Given the description of an element on the screen output the (x, y) to click on. 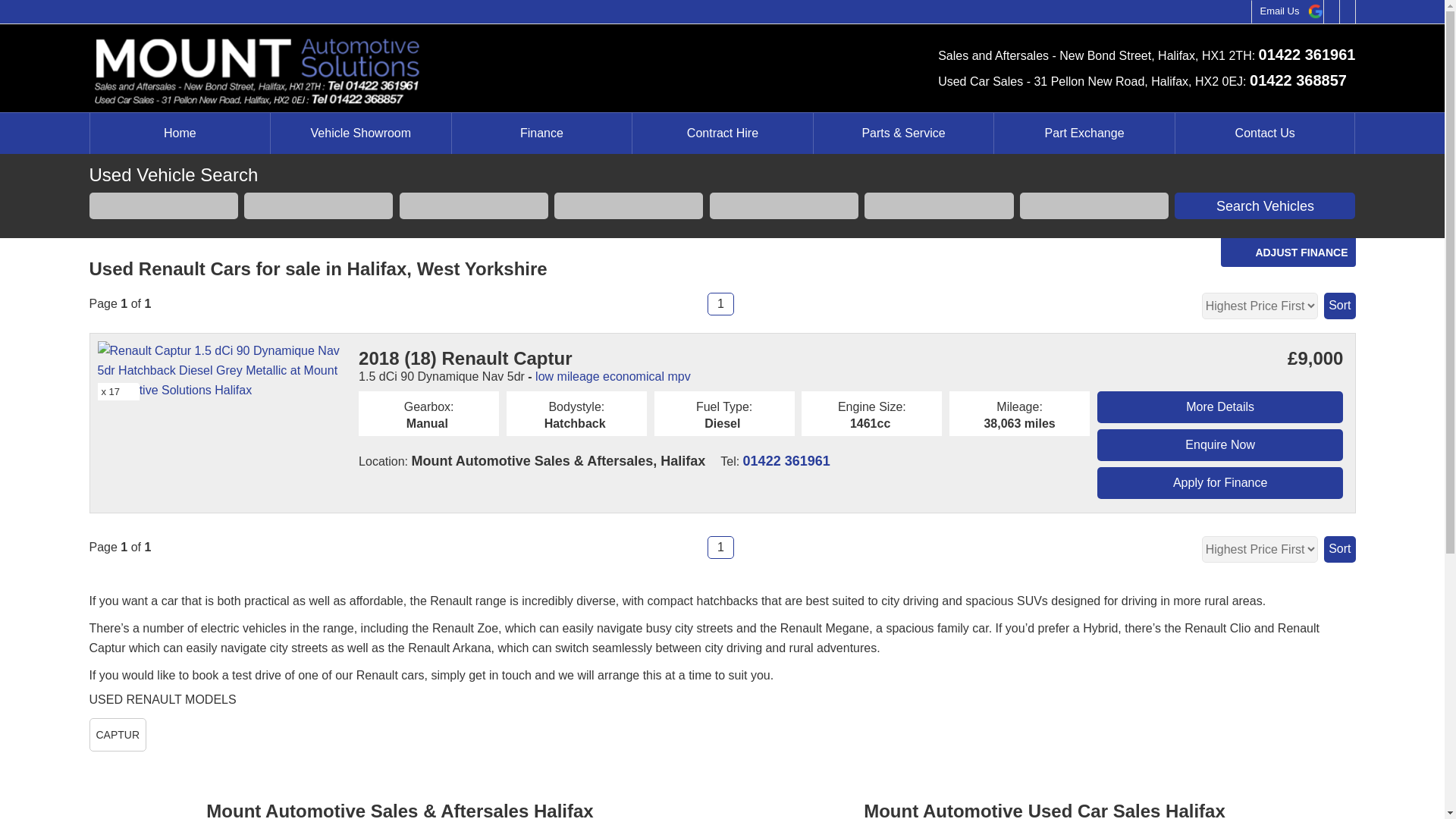
Part Exchange (1084, 133)
Finance (541, 133)
Sort (1339, 305)
Home (178, 133)
Email Us (1278, 11)
Sort (1339, 549)
01422 368857 (1297, 79)
Vehicle Showroom (360, 133)
Sort (1339, 305)
Search Vehicles (1264, 205)
